Given the description of an element on the screen output the (x, y) to click on. 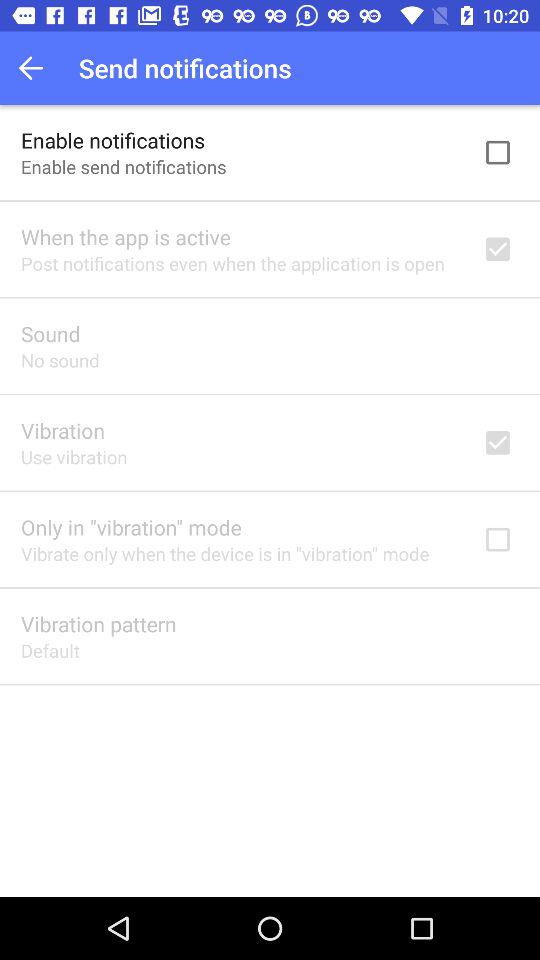
turn on the post notifications even (232, 263)
